Given the description of an element on the screen output the (x, y) to click on. 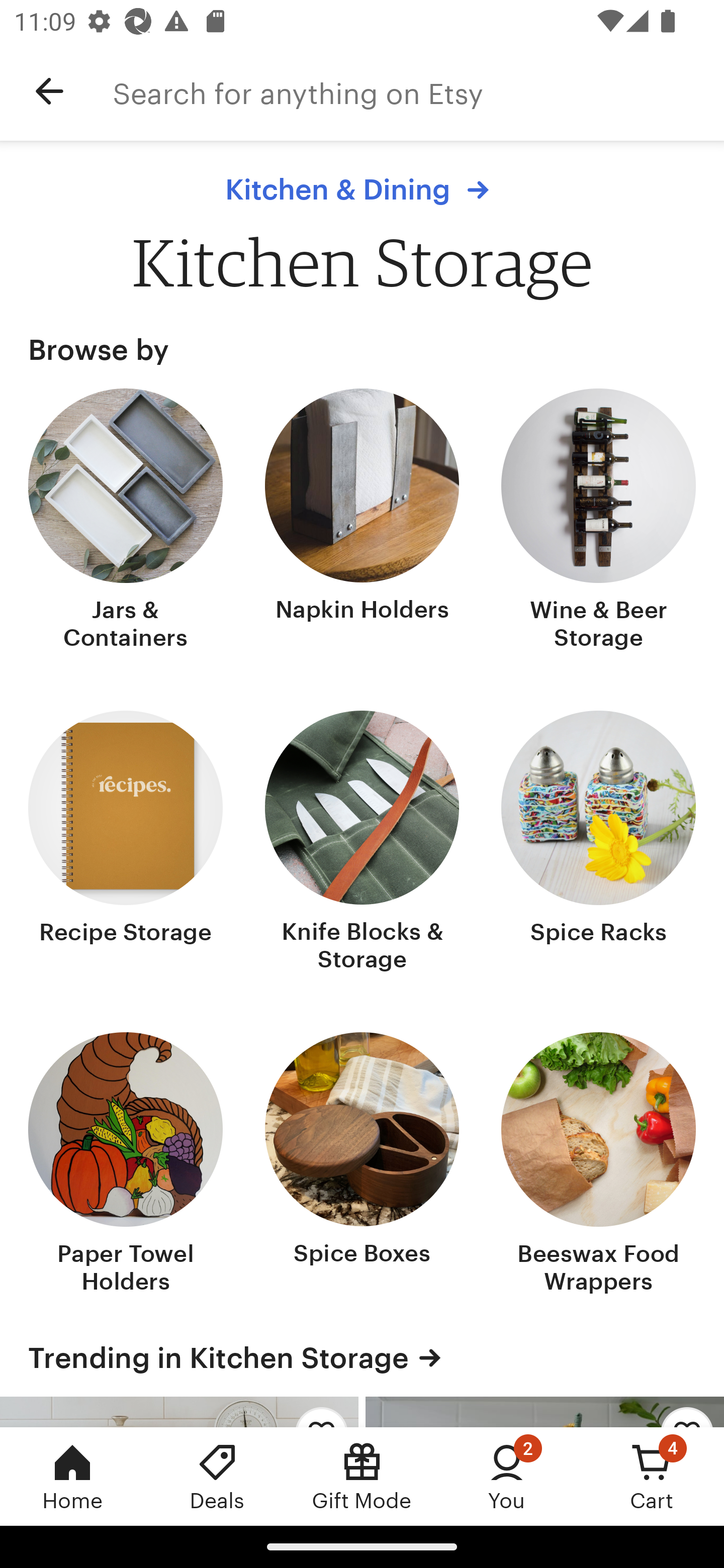
Navigate up (49, 91)
Search for anything on Etsy (418, 91)
Kitchen & Dining (361, 189)
Jars & Containers (125, 520)
Napkin Holders (361, 520)
Wine & Beer Storage (598, 520)
Recipe Storage (125, 842)
Knife Blocks & Storage (361, 842)
Spice Racks (598, 842)
Paper Towel Holders (125, 1164)
Spice Boxes (361, 1164)
Beeswax Food Wrappers (598, 1164)
Trending in Kitchen Storage  (361, 1357)
Deals (216, 1475)
Gift Mode (361, 1475)
You, 2 new notifications You (506, 1475)
Cart, 4 new notifications Cart (651, 1475)
